Given the description of an element on the screen output the (x, y) to click on. 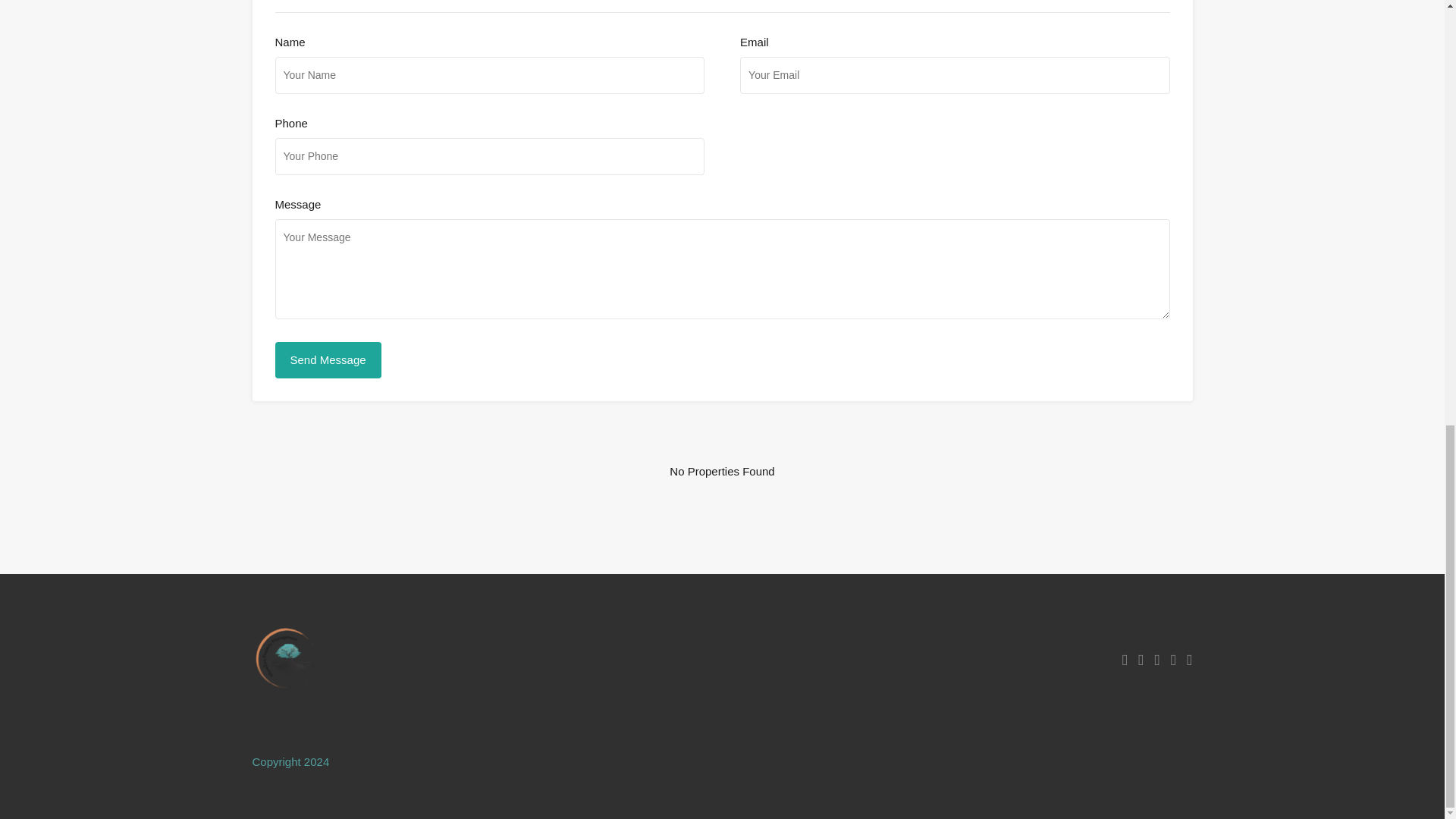
Send Message (327, 360)
Send Message (327, 360)
